Given the description of an element on the screen output the (x, y) to click on. 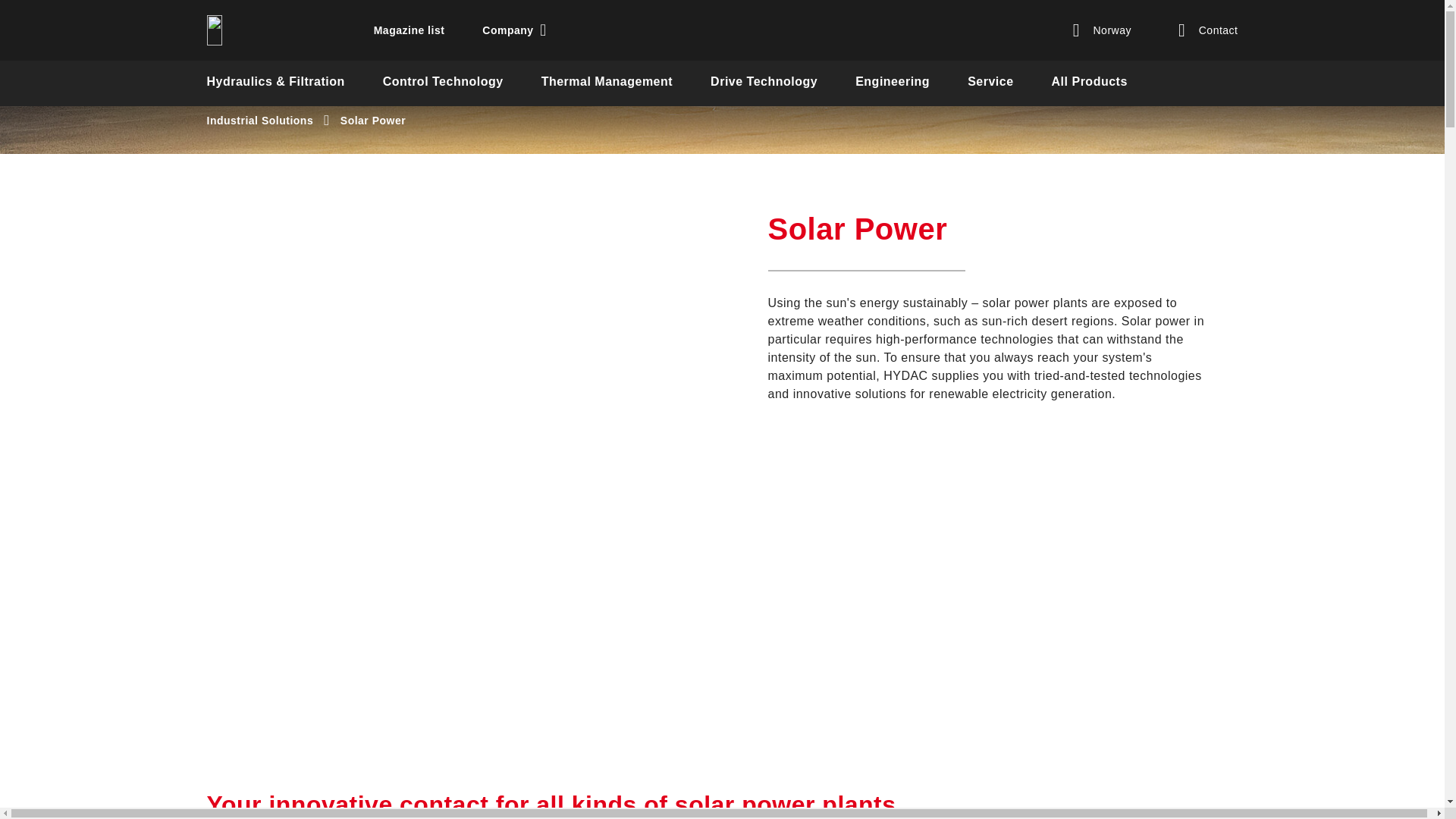
HYDAC product catalogue (1088, 83)
Magazine list (409, 30)
